Given the description of an element on the screen output the (x, y) to click on. 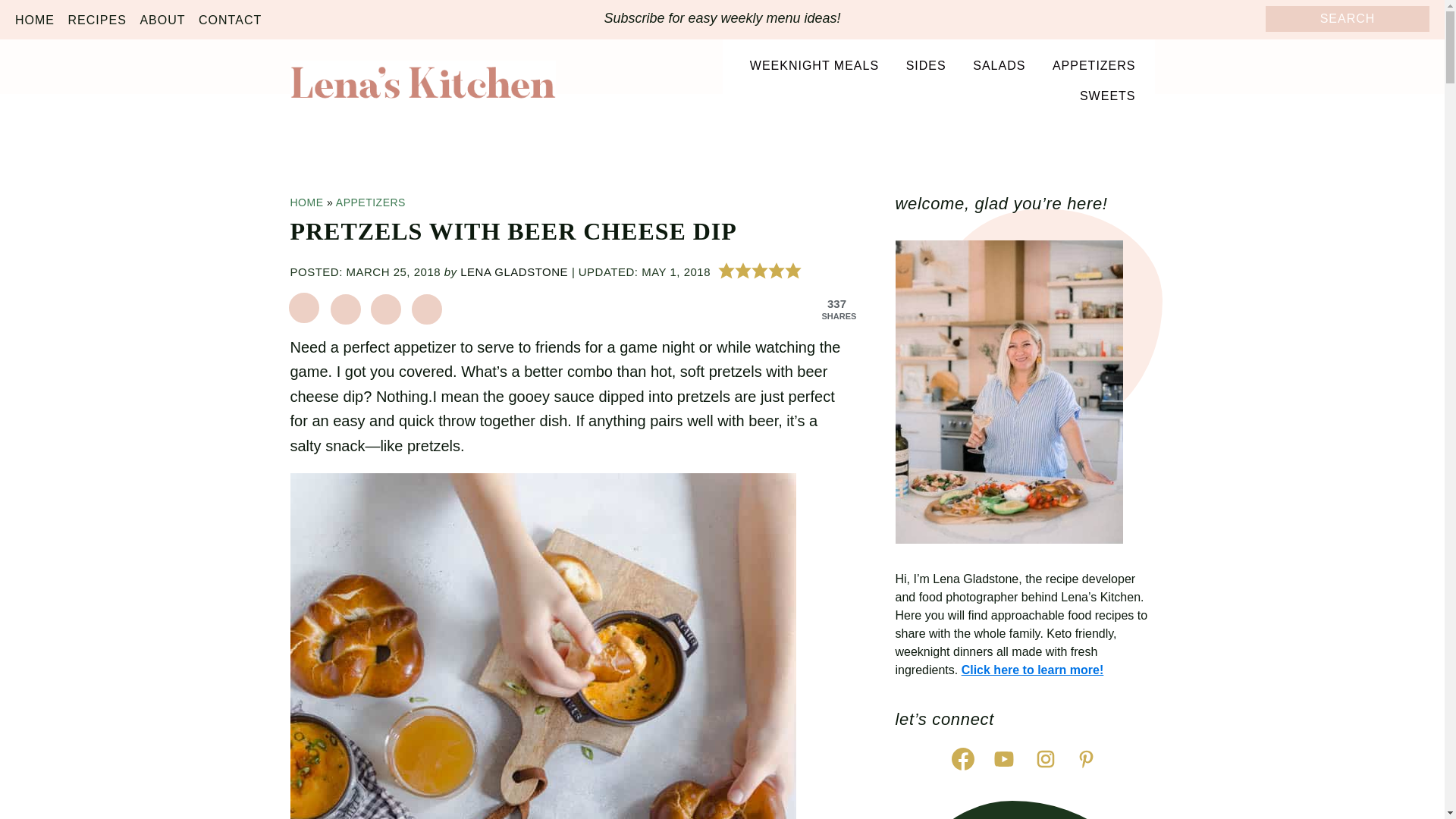
Save to Pinterest (304, 309)
Share on Yummly (427, 309)
LENA GLADSTONE (513, 271)
SALADS (998, 65)
ABOUT (161, 19)
SWEETS (1107, 96)
Share on X (386, 309)
APPETIZERS (371, 202)
CONTACT (230, 19)
APPETIZERS (1094, 65)
